Given the description of an element on the screen output the (x, y) to click on. 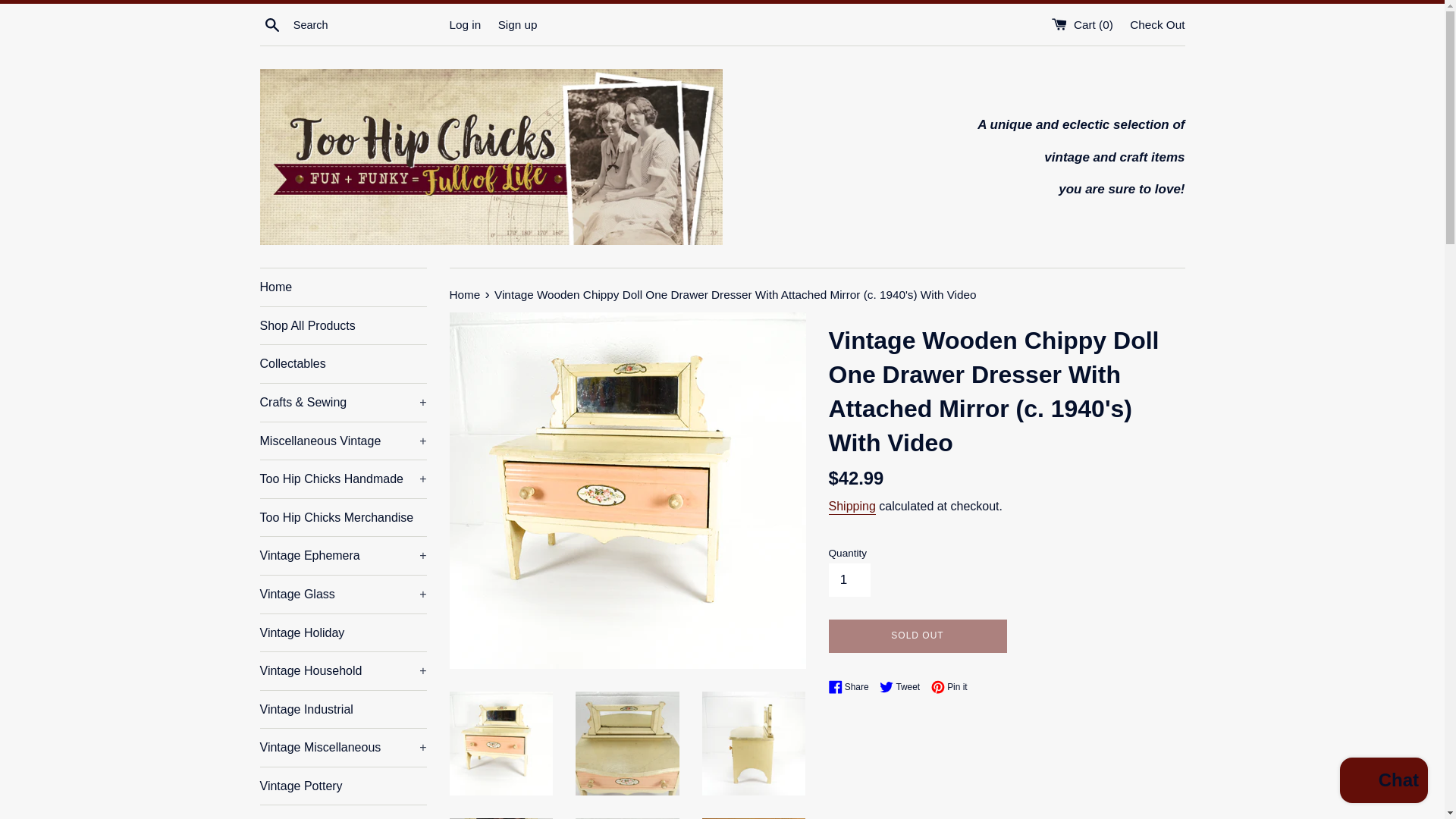
Back to the frontpage (465, 294)
Pin on Pinterest (949, 687)
Home (342, 287)
Shopify online store chat (1383, 781)
1 (848, 579)
Check Out (1157, 24)
Collectables (342, 363)
Sign up (517, 24)
Share on Facebook (852, 687)
Log in (464, 24)
Shop All Products (342, 325)
Tweet on Twitter (903, 687)
Search (271, 24)
